Given the description of an element on the screen output the (x, y) to click on. 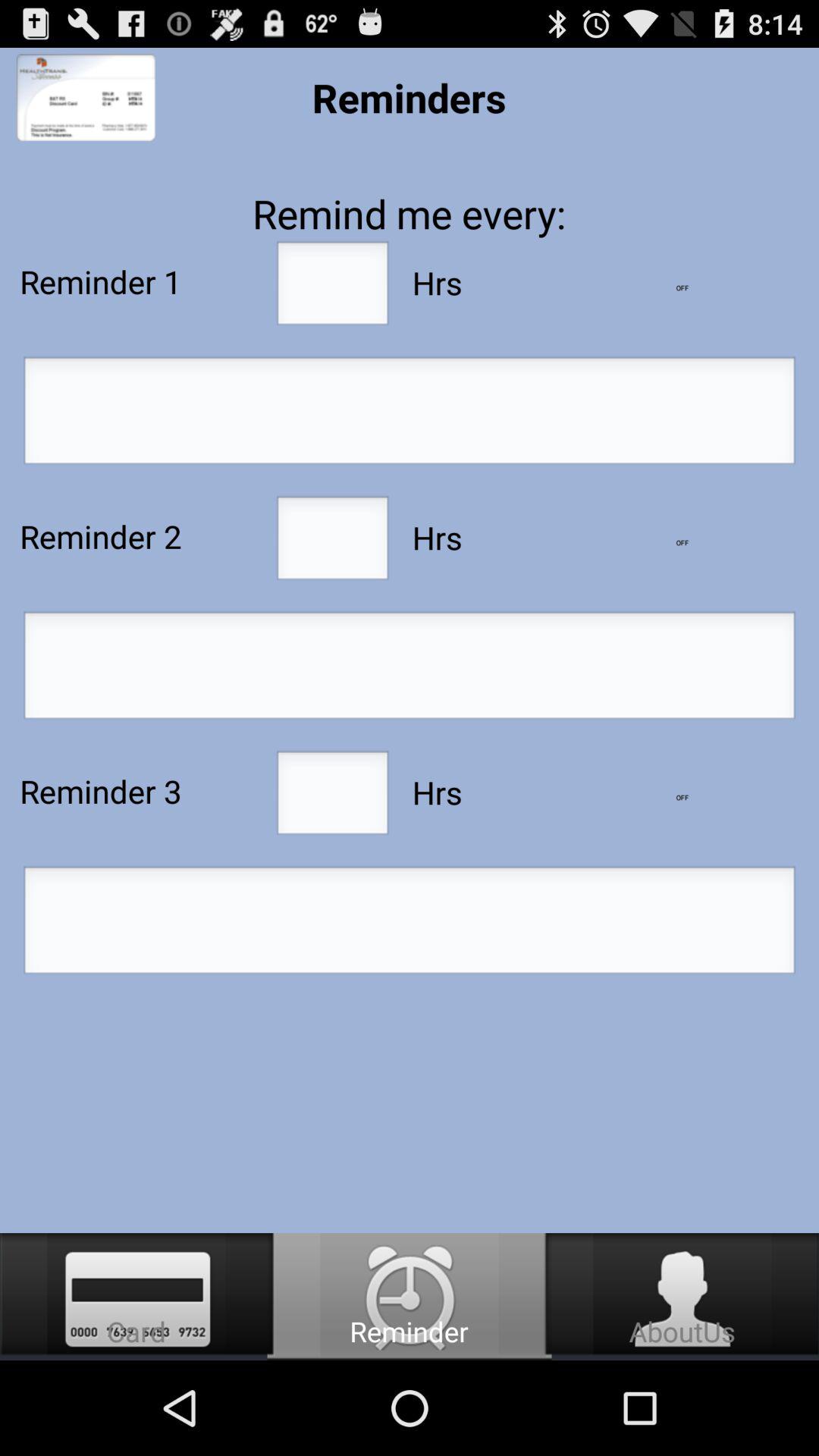
enter text (409, 924)
